Given the description of an element on the screen output the (x, y) to click on. 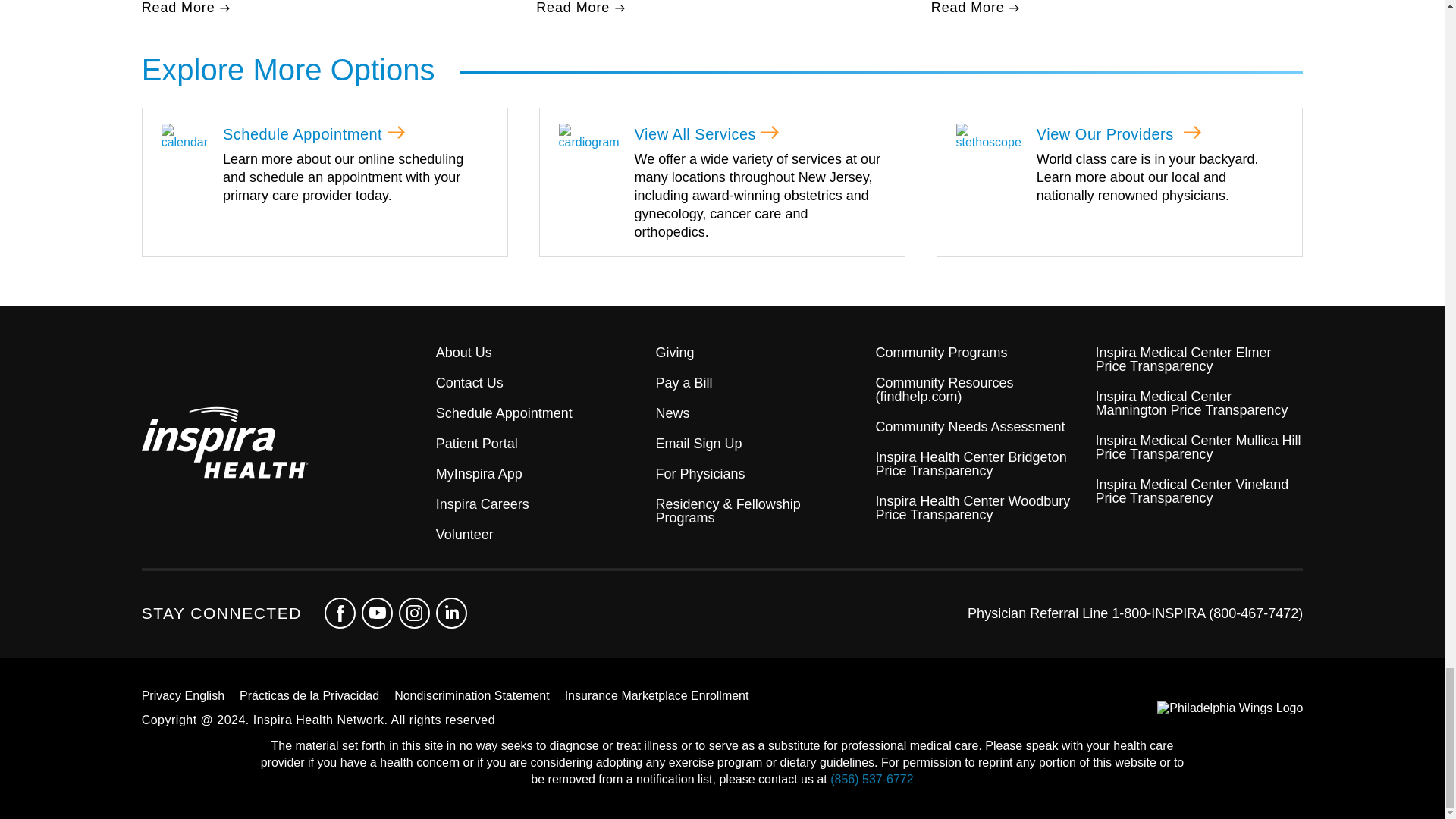
View All Services (589, 136)
View Our Providers  (987, 136)
Schedule Appointment (184, 136)
